Given the description of an element on the screen output the (x, y) to click on. 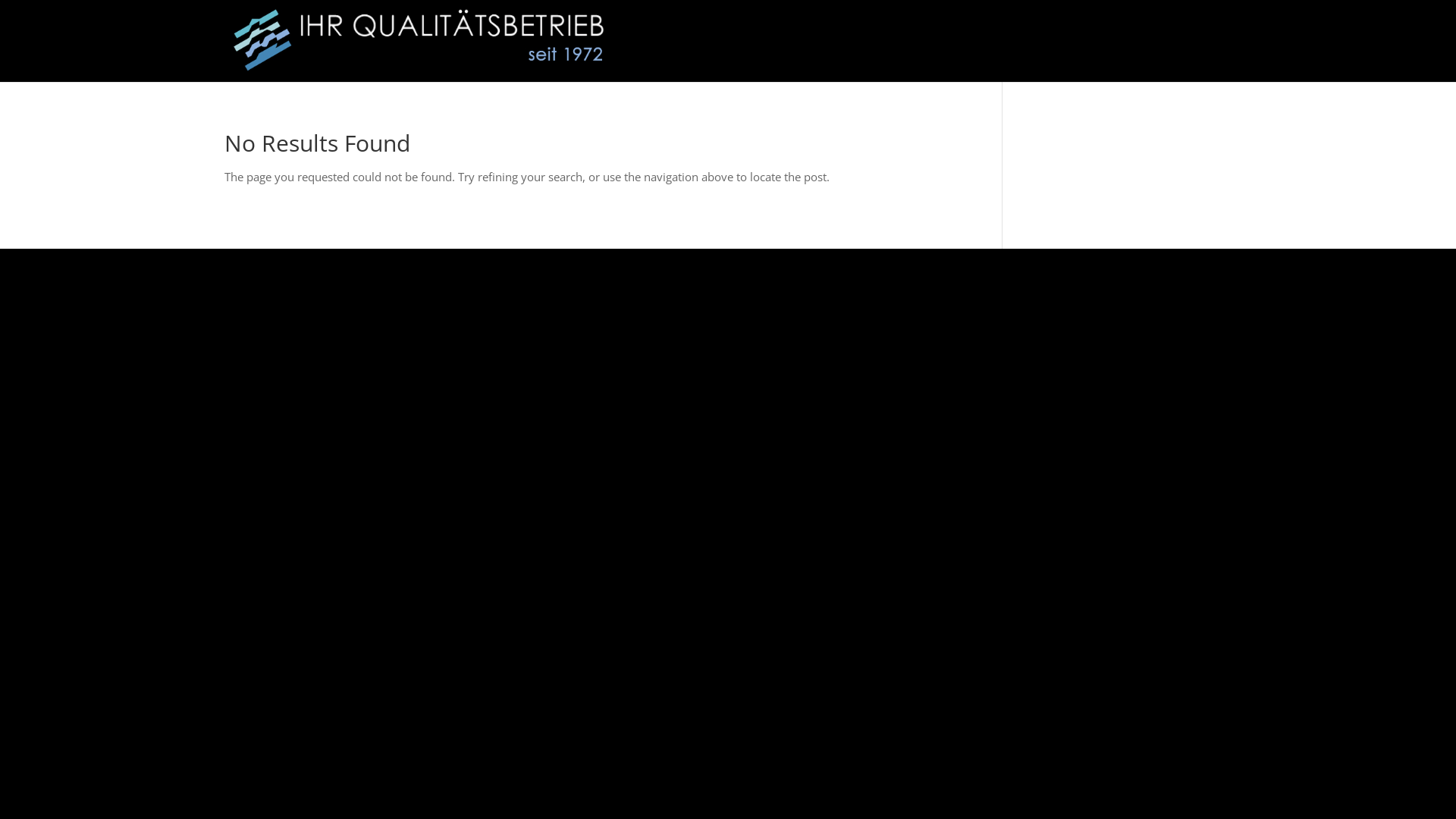
Home Element type: text (1216, 58)
